Given the description of an element on the screen output the (x, y) to click on. 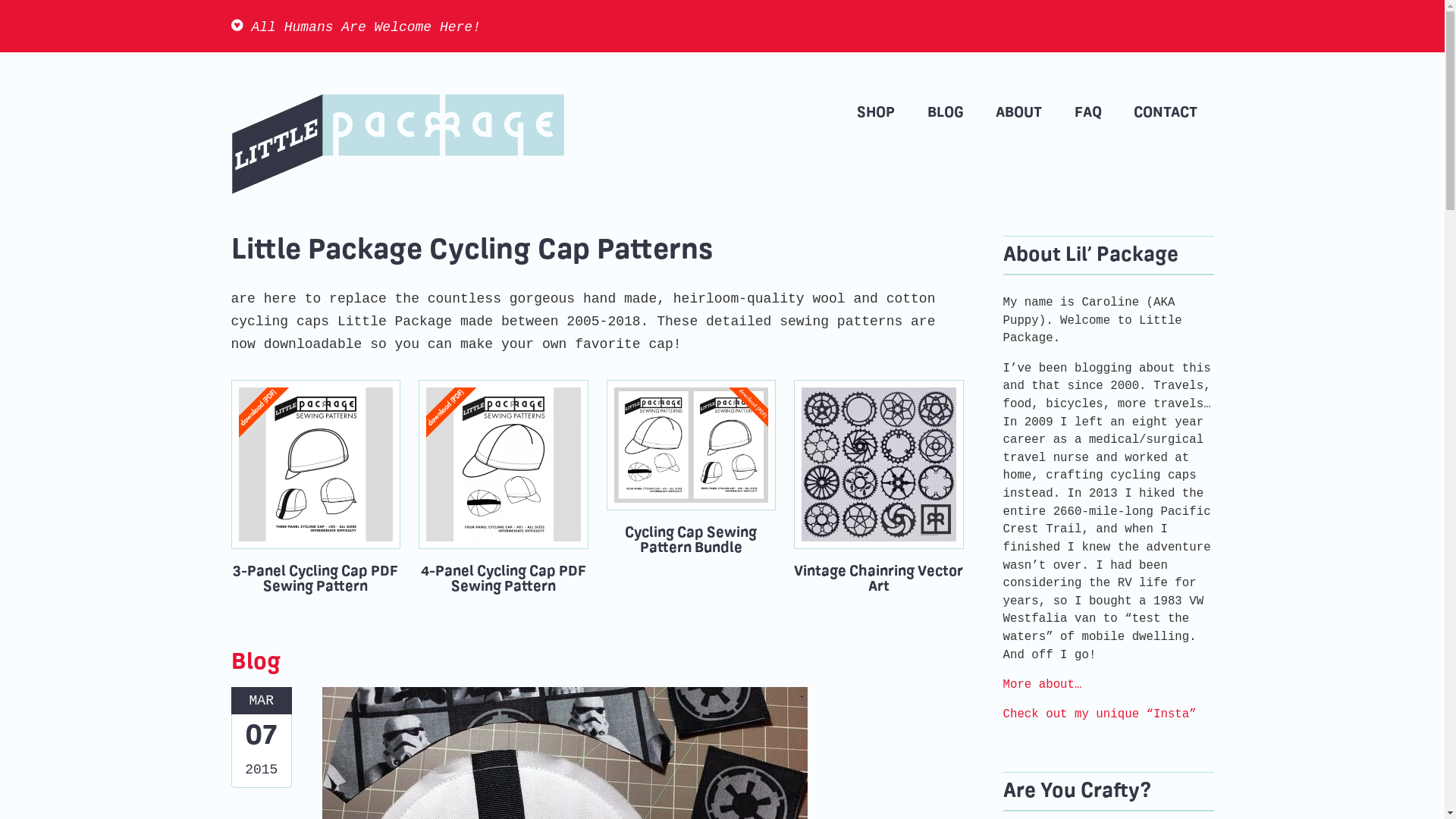
Blog Element type: text (254, 662)
CONTACT Element type: text (1165, 112)
Vintage Chainring Vector Art Element type: text (878, 486)
SHOP Element type: text (875, 112)
Cycling Cap Sewing Pattern Bundle Element type: text (691, 467)
Little Package Element type: hover (397, 143)
3-Panel Cycling Cap PDF Sewing Pattern Element type: text (315, 486)
4-Panel Cycling Cap PDF Sewing Pattern Element type: text (503, 486)
BLOG Element type: text (945, 112)
FAQ Element type: text (1088, 112)
ABOUT Element type: text (1018, 112)
